Given the description of an element on the screen output the (x, y) to click on. 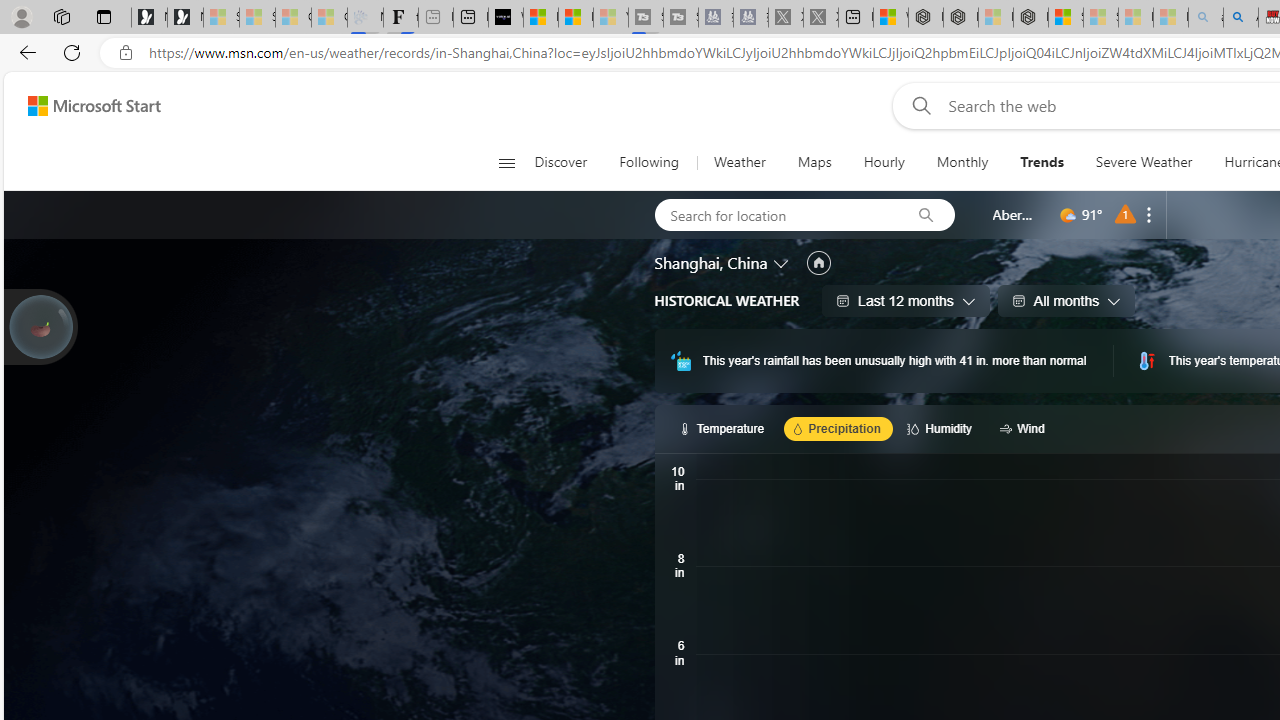
Temperature (724, 428)
Hourly (883, 162)
Shanghai, China (711, 263)
Remove location (1149, 214)
Set as primary location (818, 263)
